Given the description of an element on the screen output the (x, y) to click on. 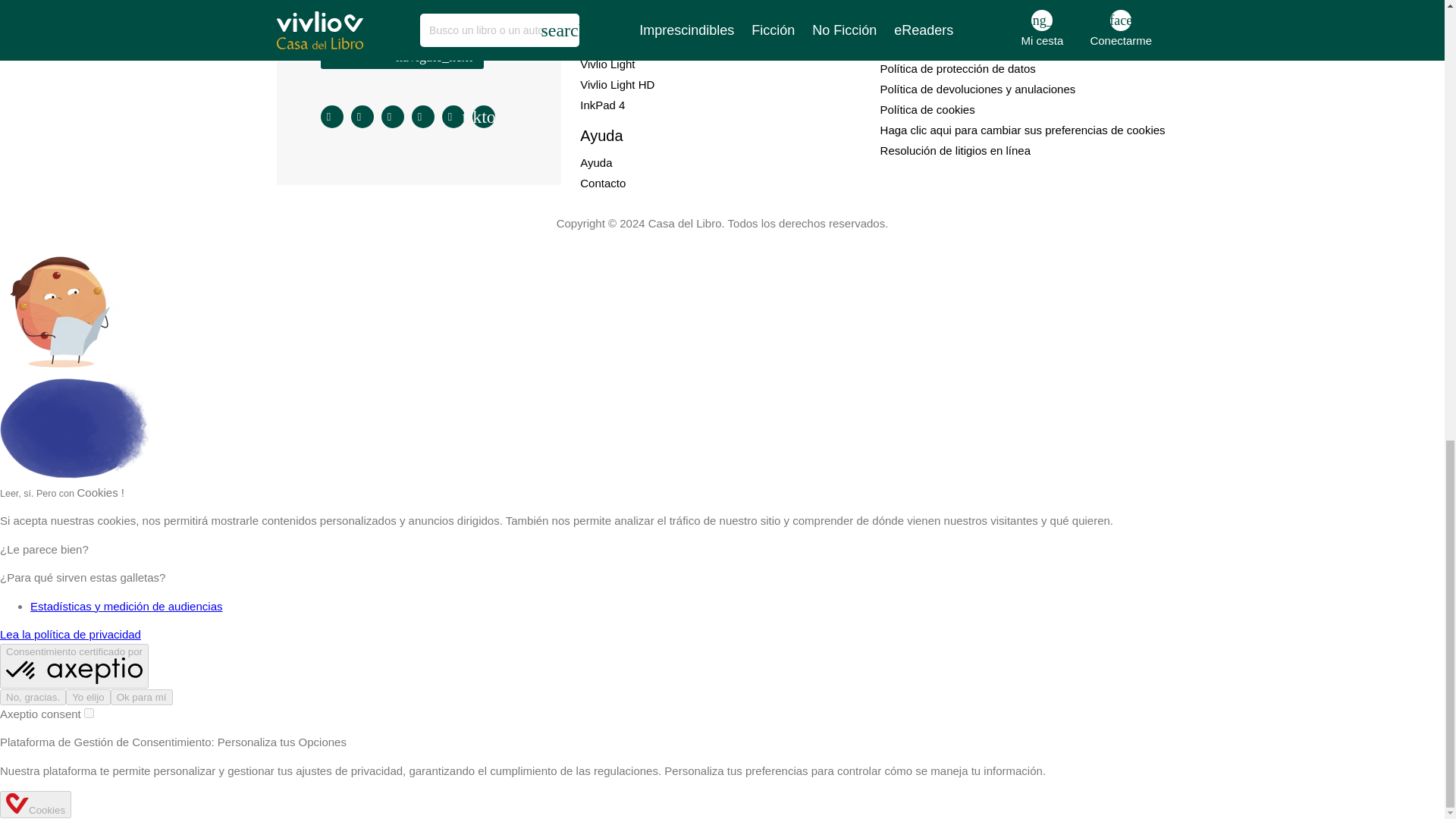
Casa Del Libro Instagram (331, 116)
Casa Del Libro Facebook (362, 116)
Casa Del Libro Tik Tok (483, 116)
Casa Del Libro Linkedin (422, 116)
Casa Del Libro Twitter (392, 116)
Casa Del Libro Youtube (453, 116)
